Given the description of an element on the screen output the (x, y) to click on. 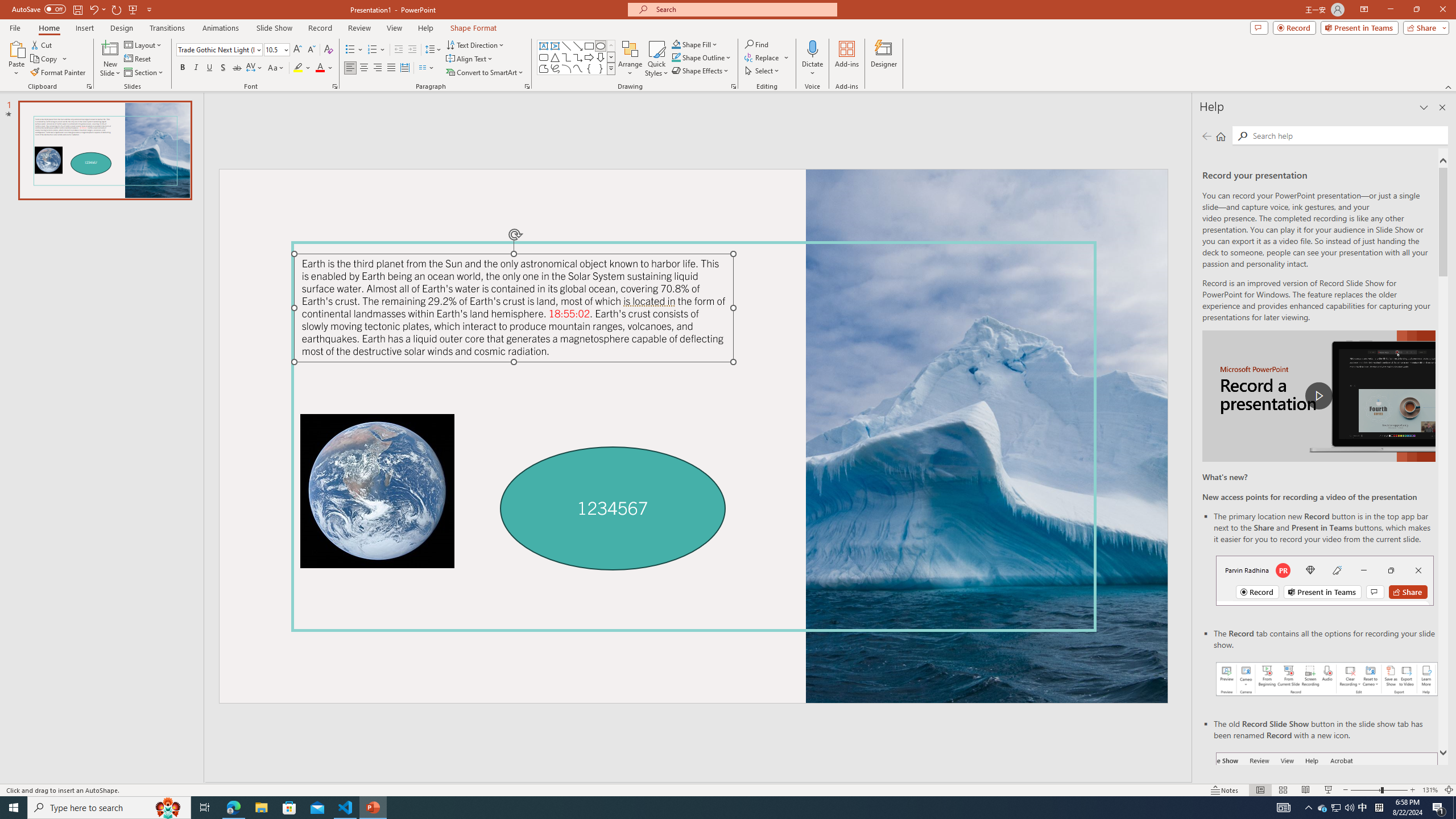
Text Highlight Color Yellow (297, 67)
Present in Teams (1359, 27)
Strikethrough (237, 67)
Close (1442, 9)
Select (762, 69)
Undo (96, 9)
Right Brace (600, 68)
Redo (117, 9)
Layout (143, 44)
Font Color Red (320, 67)
Customize Quick Access Toolbar (149, 9)
Shape Fill Aqua, Accent 2 (675, 44)
Oval (600, 45)
